Given the description of an element on the screen output the (x, y) to click on. 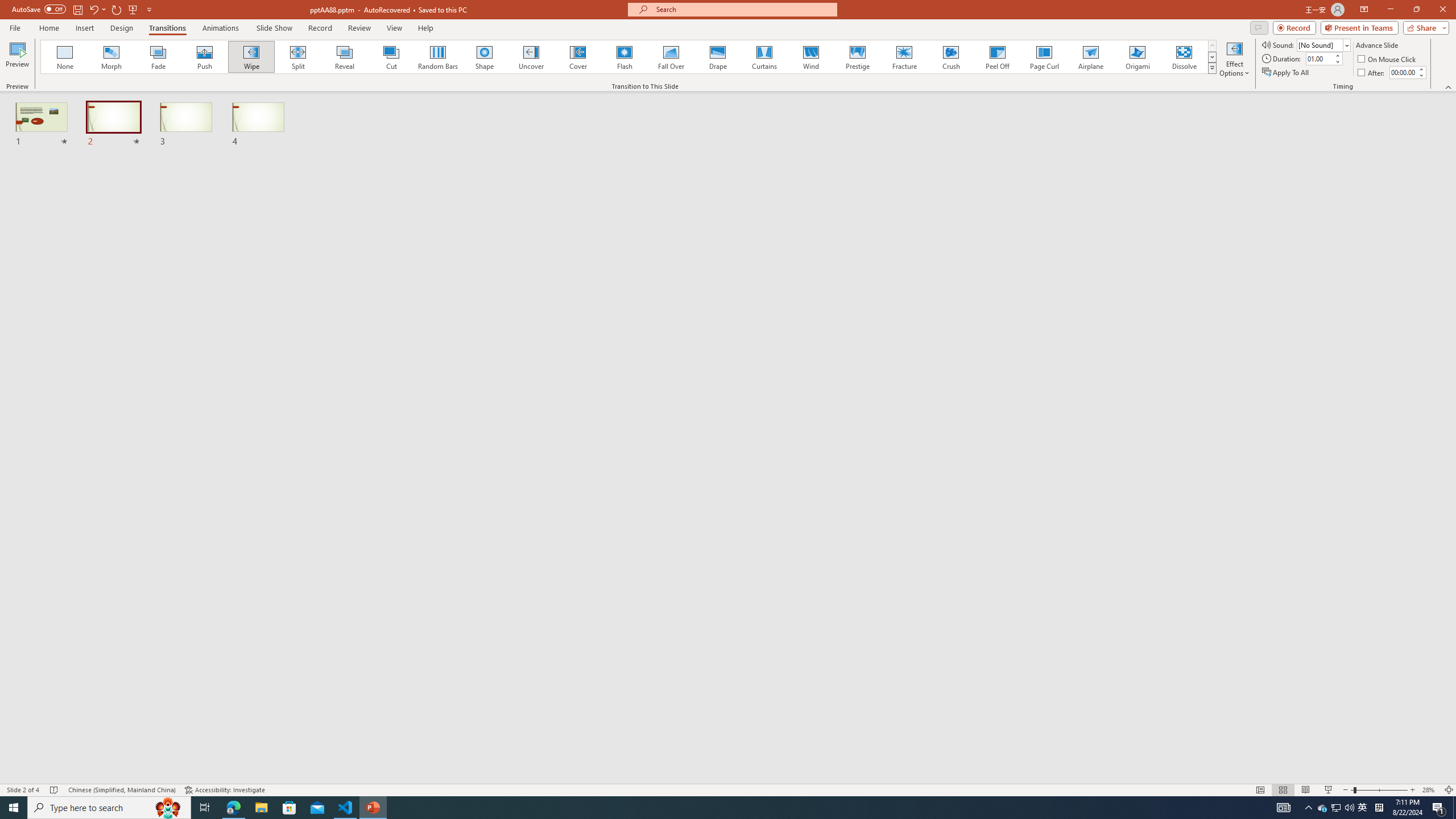
Apply To All (1286, 72)
Flash (624, 56)
Push (205, 56)
Curtains (764, 56)
Transition Effects (1212, 67)
